Given the description of an element on the screen output the (x, y) to click on. 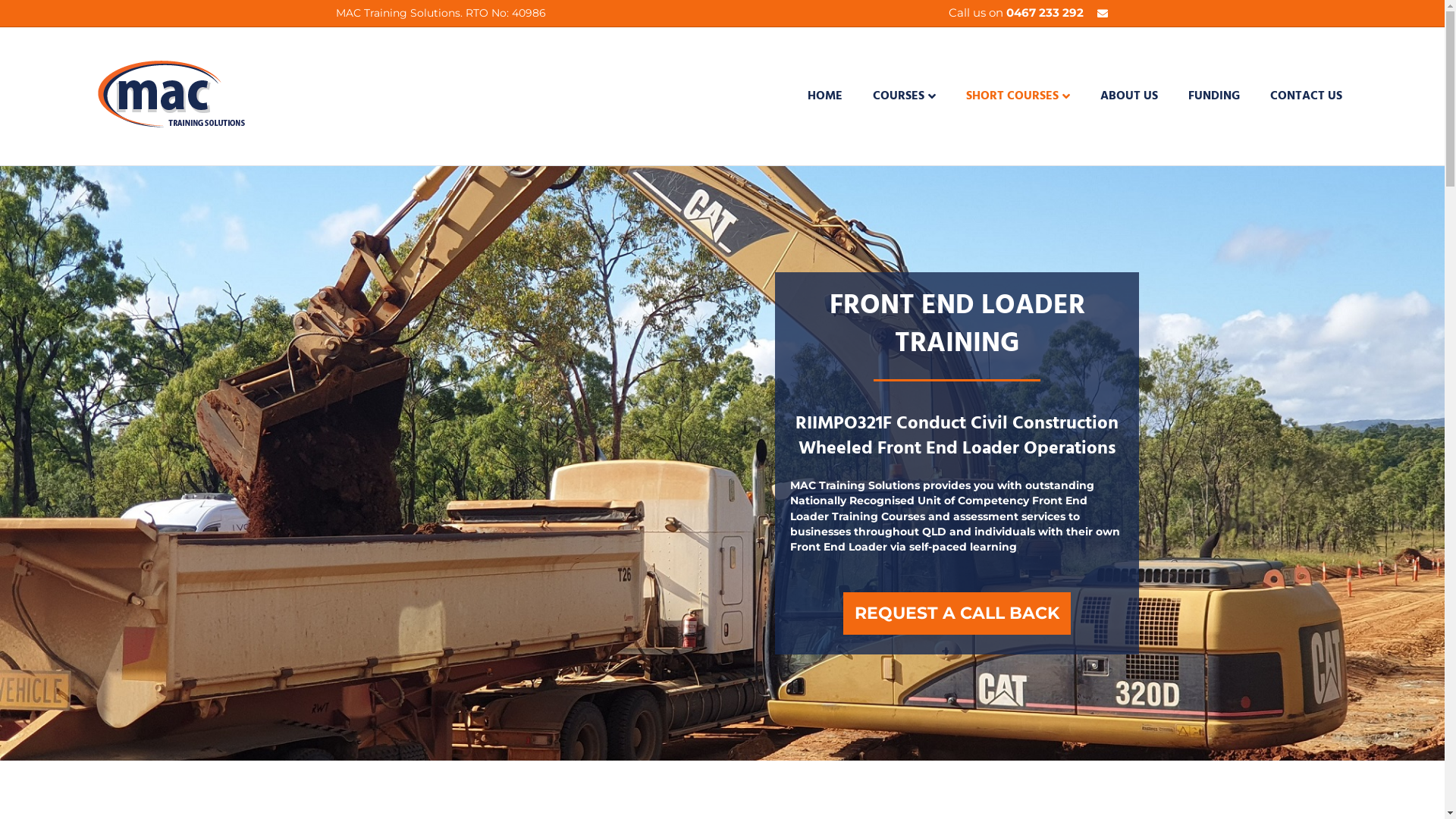
Email Element type: text (1097, 12)
HOME Element type: text (824, 96)
0467 233 292 Element type: text (1043, 12)
REQUEST A CALL BACK Element type: text (956, 613)
COURSES Element type: text (903, 96)
CONTACT US Element type: text (1306, 96)
SHORT COURSES Element type: text (1017, 96)
FUNDING Element type: text (1214, 96)
ABOUT US Element type: text (1129, 96)
